Given the description of an element on the screen output the (x, y) to click on. 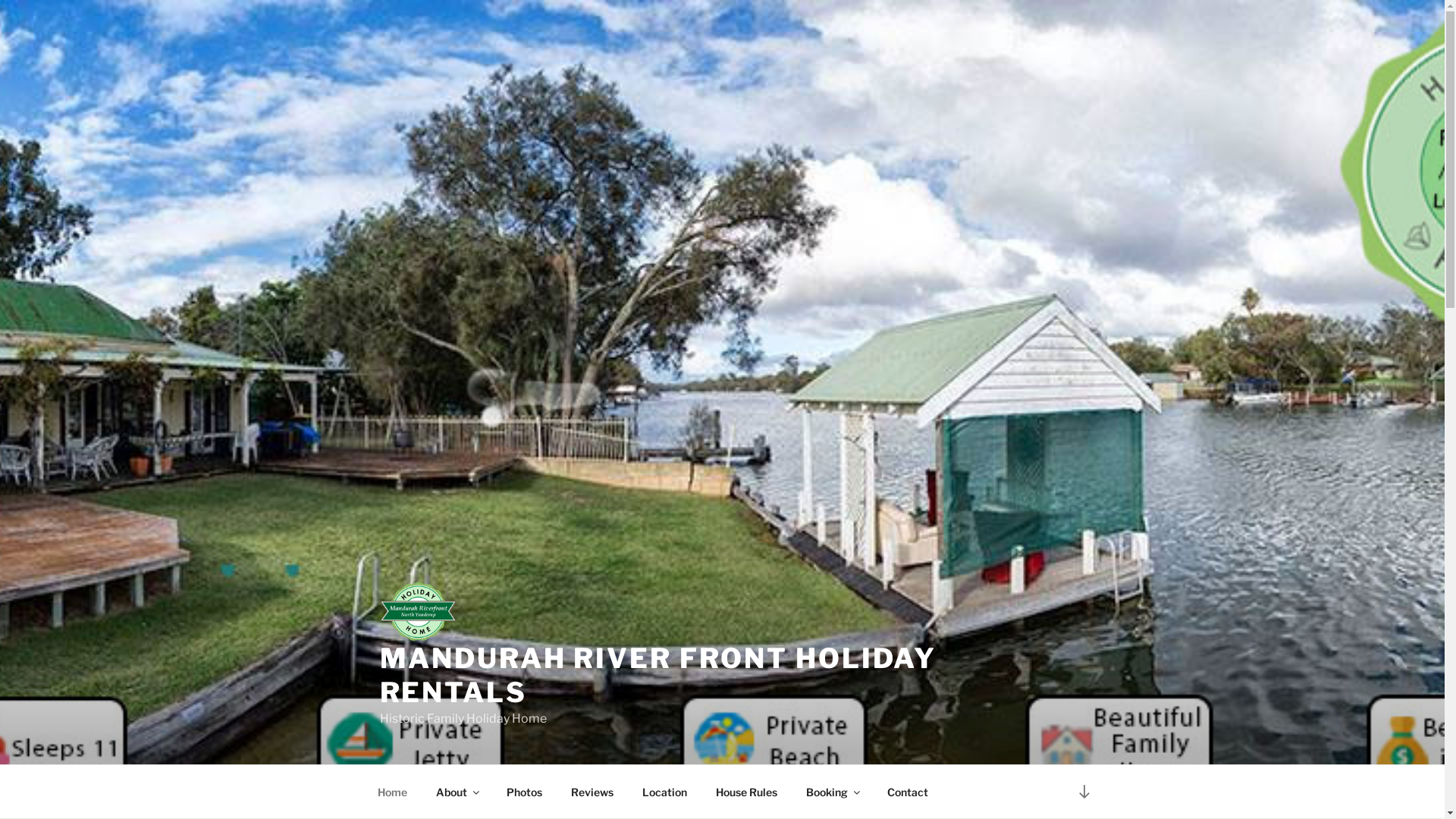
About Element type: text (457, 791)
Scroll down to content Element type: text (1083, 790)
Home Element type: text (392, 791)
Booking Element type: text (832, 791)
MANDURAH RIVER FRONT HOLIDAY RENTALS Element type: text (657, 675)
Location Element type: text (664, 791)
Photos Element type: text (523, 791)
House Rules Element type: text (746, 791)
Contact Element type: text (907, 791)
Reviews Element type: text (592, 791)
